Given the description of an element on the screen output the (x, y) to click on. 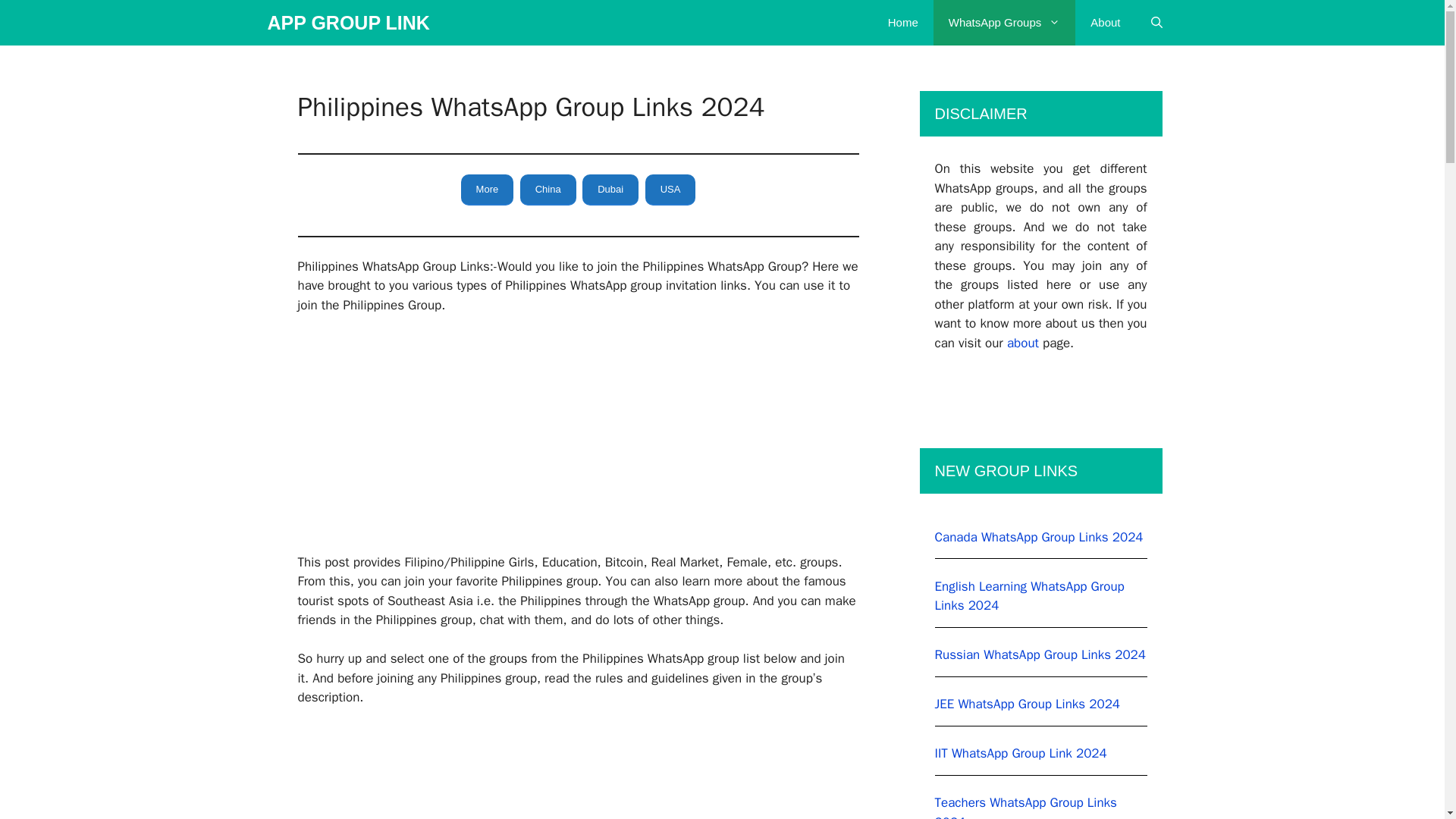
Advertisement (578, 772)
More (487, 190)
APP GROUP LINK (347, 22)
Home (902, 22)
USA (670, 190)
Dubai (610, 190)
China (547, 190)
About (1105, 22)
WhatsApp Groups (1004, 22)
Advertisement (578, 439)
